Given the description of an element on the screen output the (x, y) to click on. 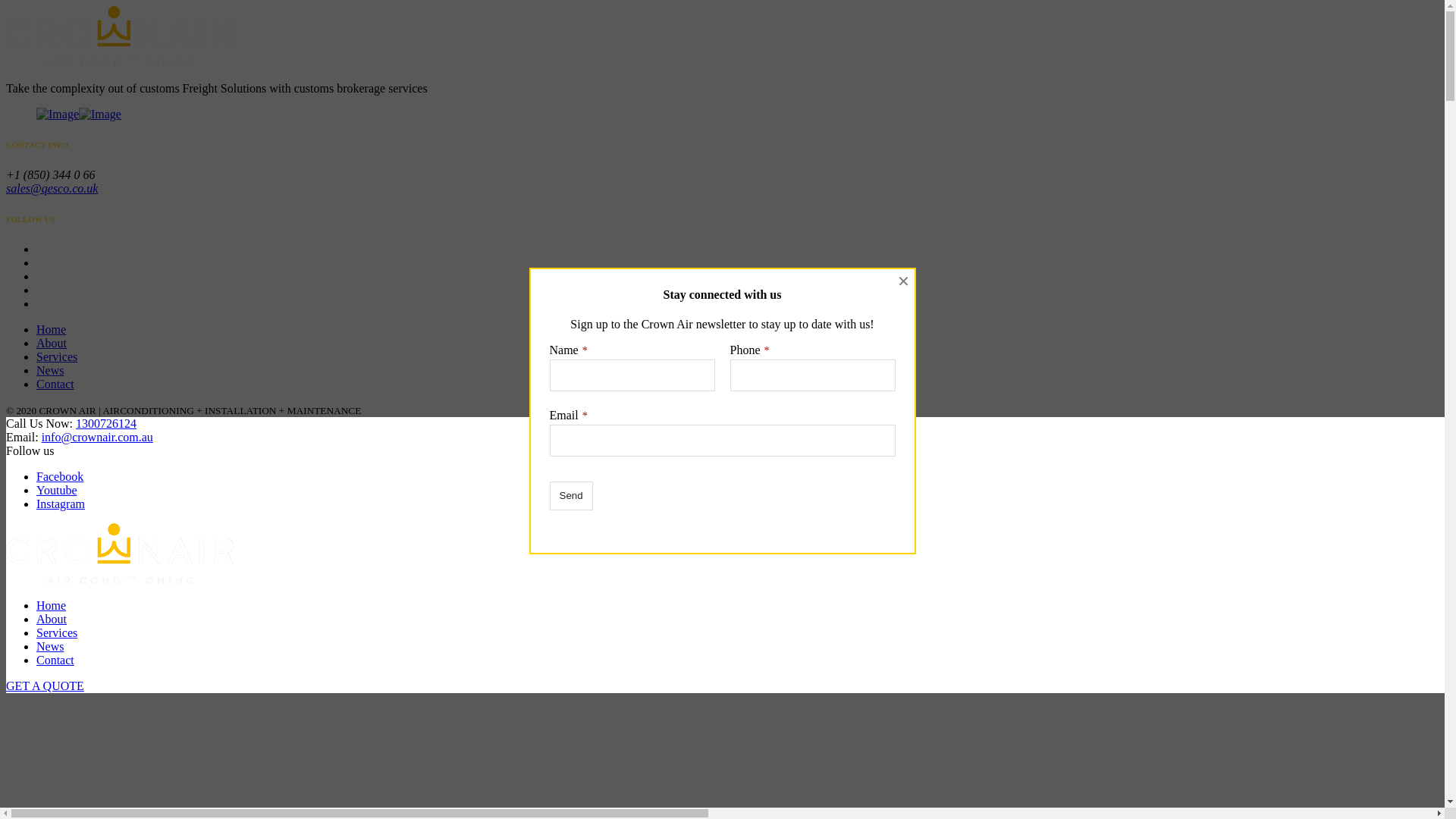
About Element type: text (51, 342)
Services Element type: text (56, 356)
Send Element type: text (570, 495)
Facebook Element type: text (59, 476)
News Element type: text (49, 370)
sales@qesco.co.uk Element type: text (51, 188)
Home Element type: text (50, 605)
info@crownair.com.au Element type: text (97, 436)
1300726124 Element type: text (105, 423)
Contact Element type: text (55, 383)
Contact Element type: text (55, 659)
News Element type: text (49, 646)
Youtube Element type: text (56, 489)
Home Element type: text (50, 329)
GET A QUOTE Element type: text (45, 685)
About Element type: text (51, 618)
Instagram Element type: text (60, 503)
Services Element type: text (56, 632)
